Given the description of an element on the screen output the (x, y) to click on. 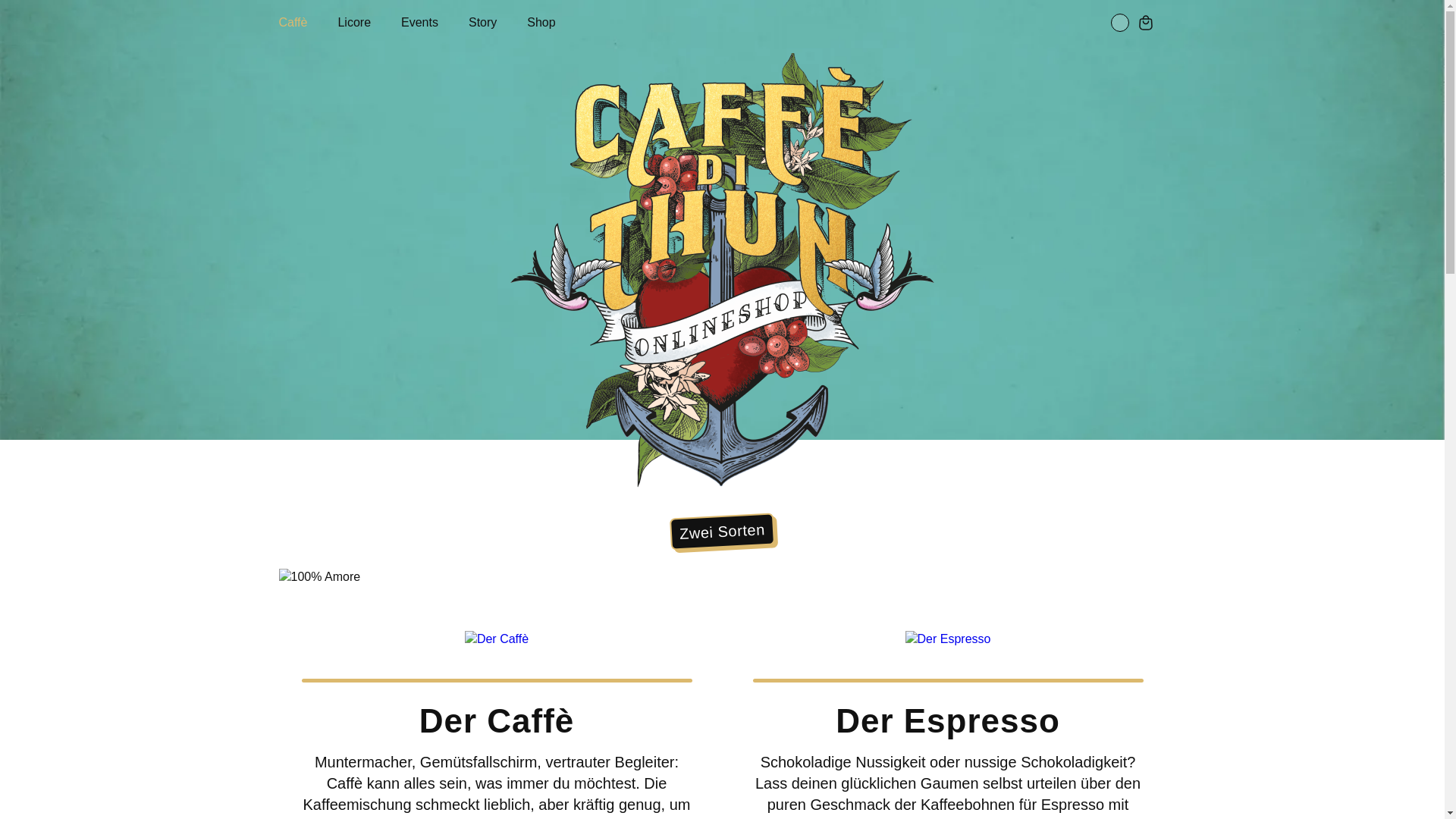
Licore Element type: text (369, 22)
Story Element type: text (497, 22)
Events Element type: text (434, 22)
Shop Element type: text (556, 22)
